Given the description of an element on the screen output the (x, y) to click on. 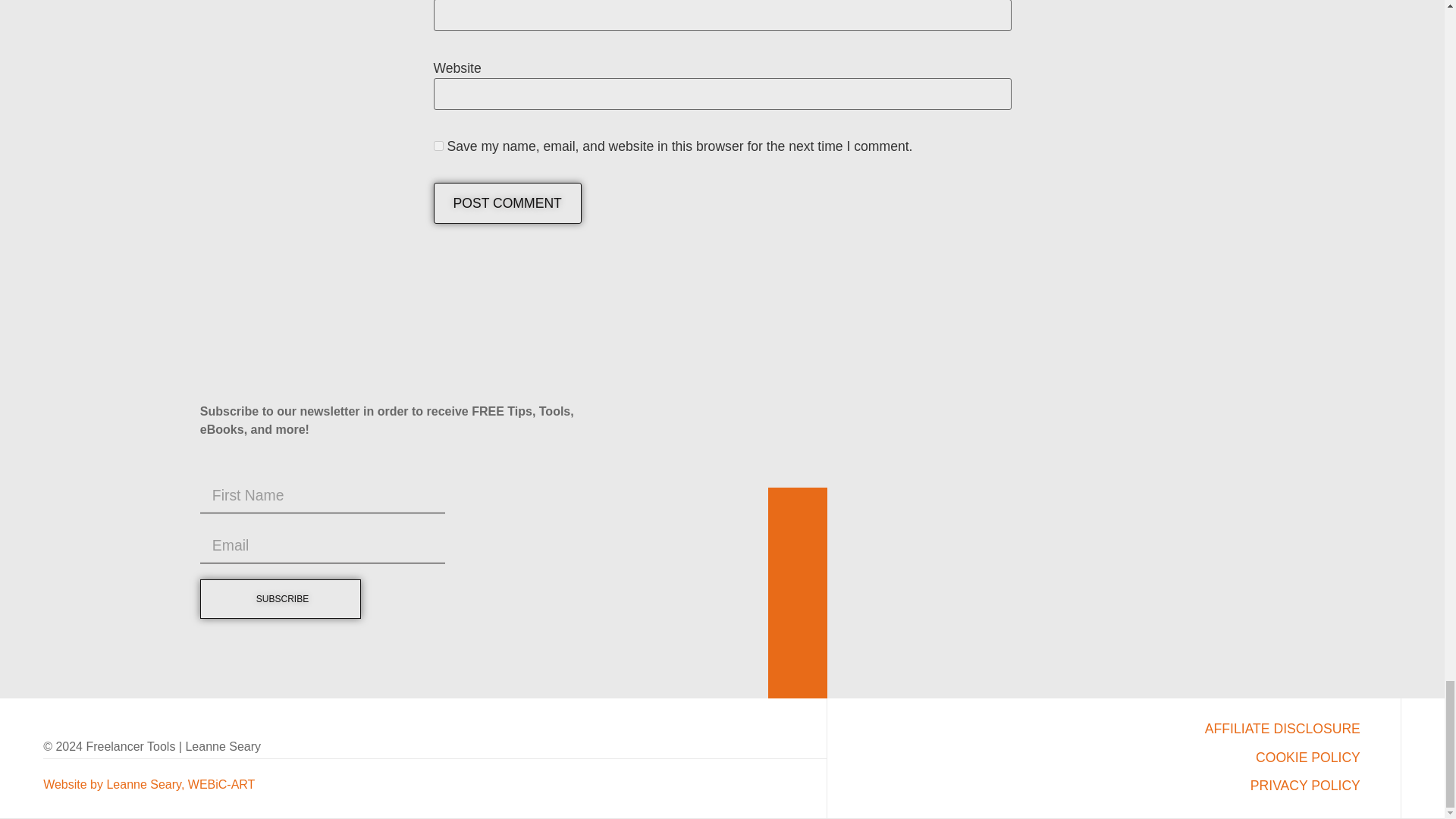
yes (438, 145)
SUBSCRIBE (280, 599)
Website by Leanne Seary, WEBiC-ART (148, 784)
Post Comment (506, 202)
AFFILIATE DISCLOSURE (1093, 728)
PRIVACY POLICY (1093, 786)
Post Comment (506, 202)
COOKIE POLICY (1093, 758)
